Given the description of an element on the screen output the (x, y) to click on. 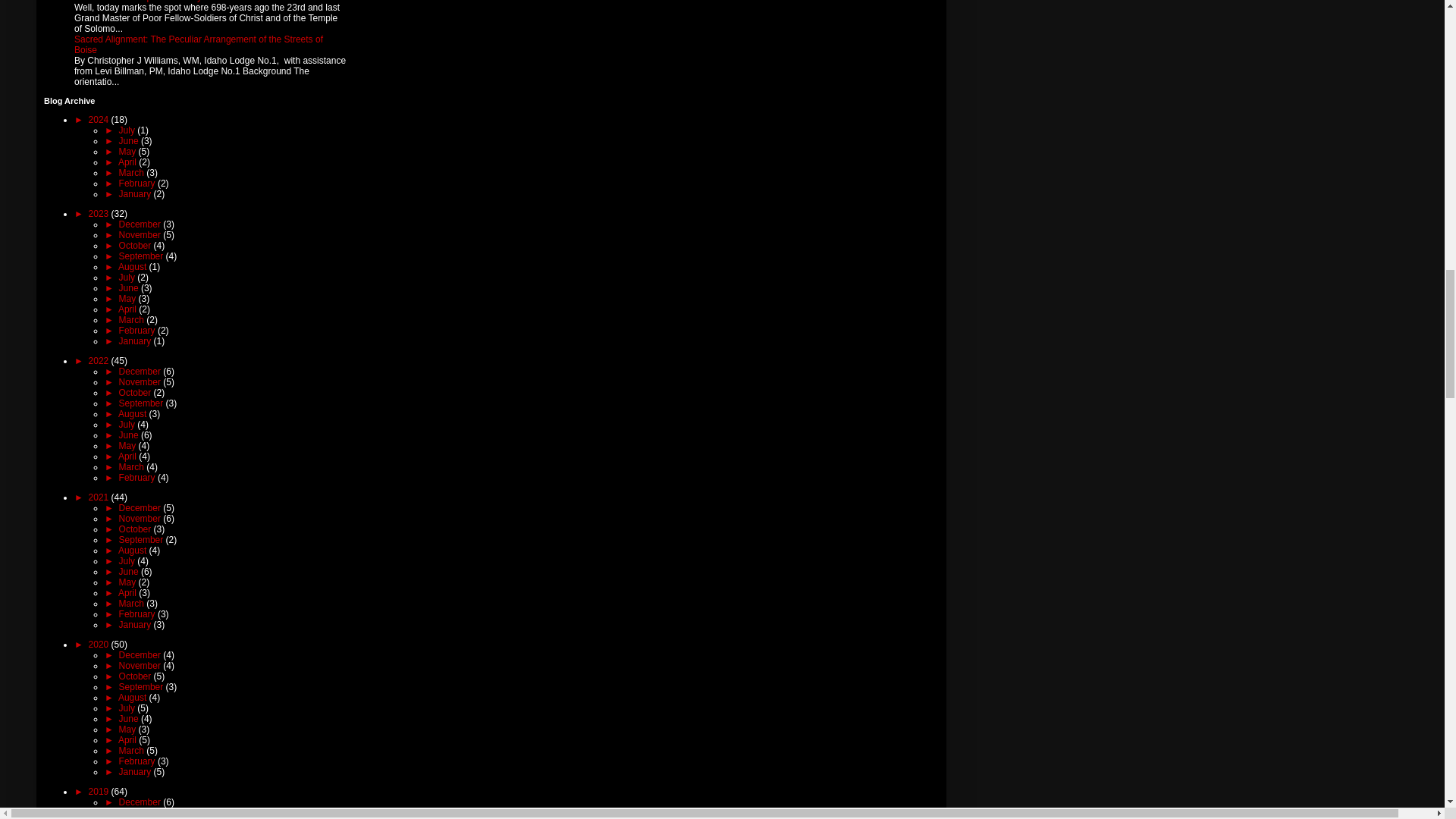
June (130, 140)
2024 (100, 119)
April (127, 162)
July (128, 130)
The Death of Jacques DeMolay (138, 1)
May (128, 151)
